Given the description of an element on the screen output the (x, y) to click on. 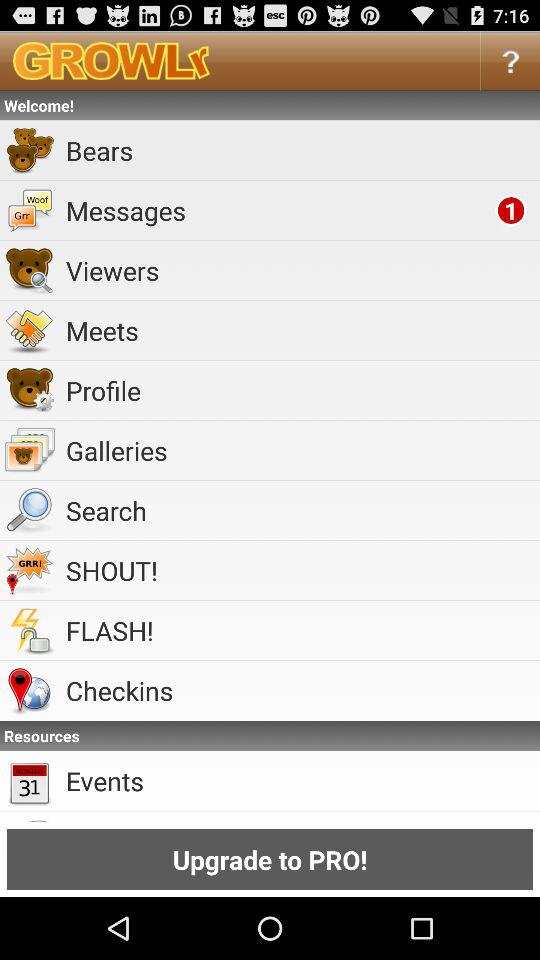
click the bears icon (299, 150)
